Given the description of an element on the screen output the (x, y) to click on. 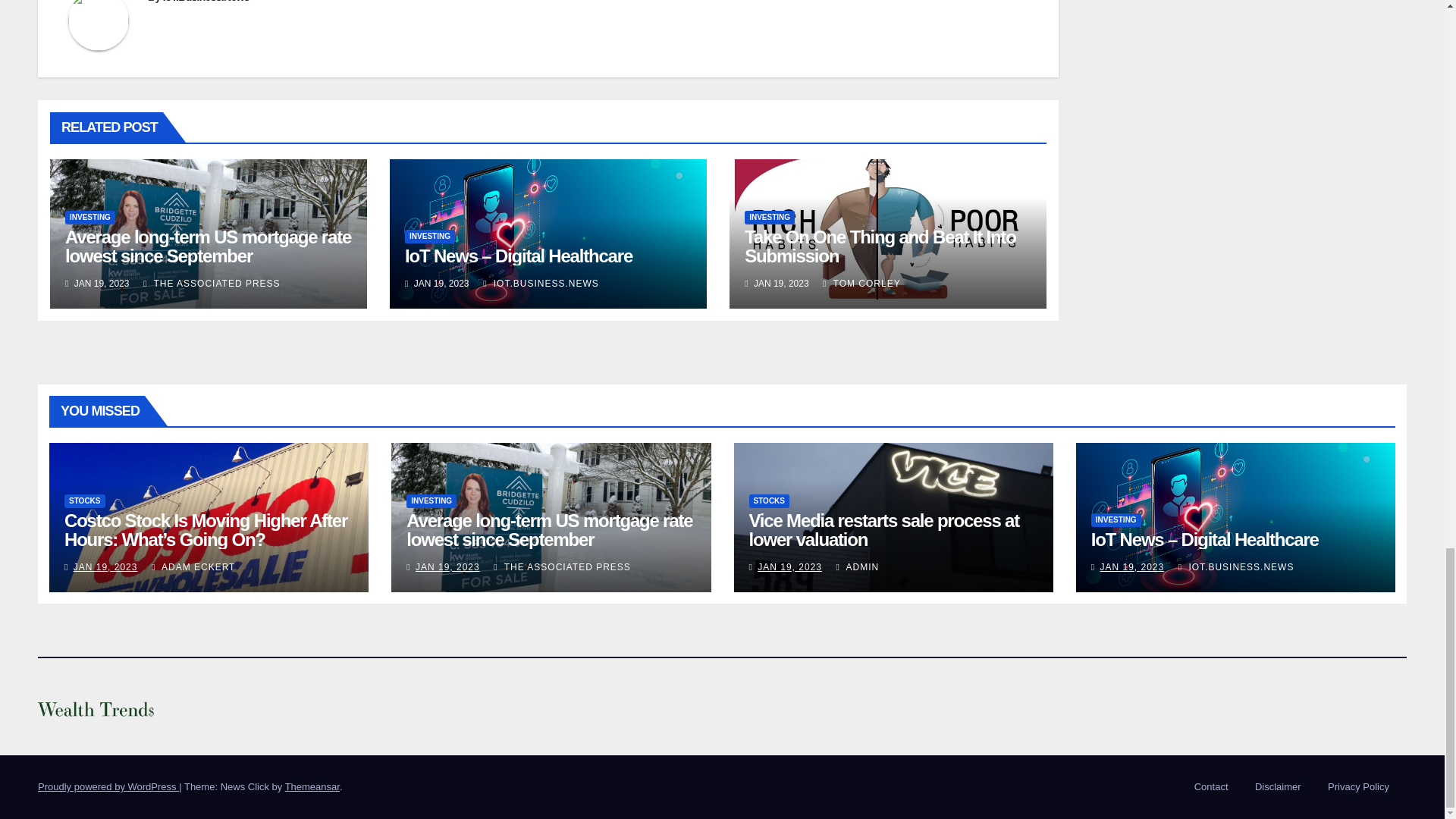
Average long-term US mortgage rate lowest since September (207, 246)
TOM CORLEY (861, 283)
THE ASSOCIATED PRESS (211, 283)
IoT.Business.News (205, 1)
STOCKS (84, 500)
Contact (1211, 786)
INVESTING (90, 217)
INVESTING (769, 217)
